Given the description of an element on the screen output the (x, y) to click on. 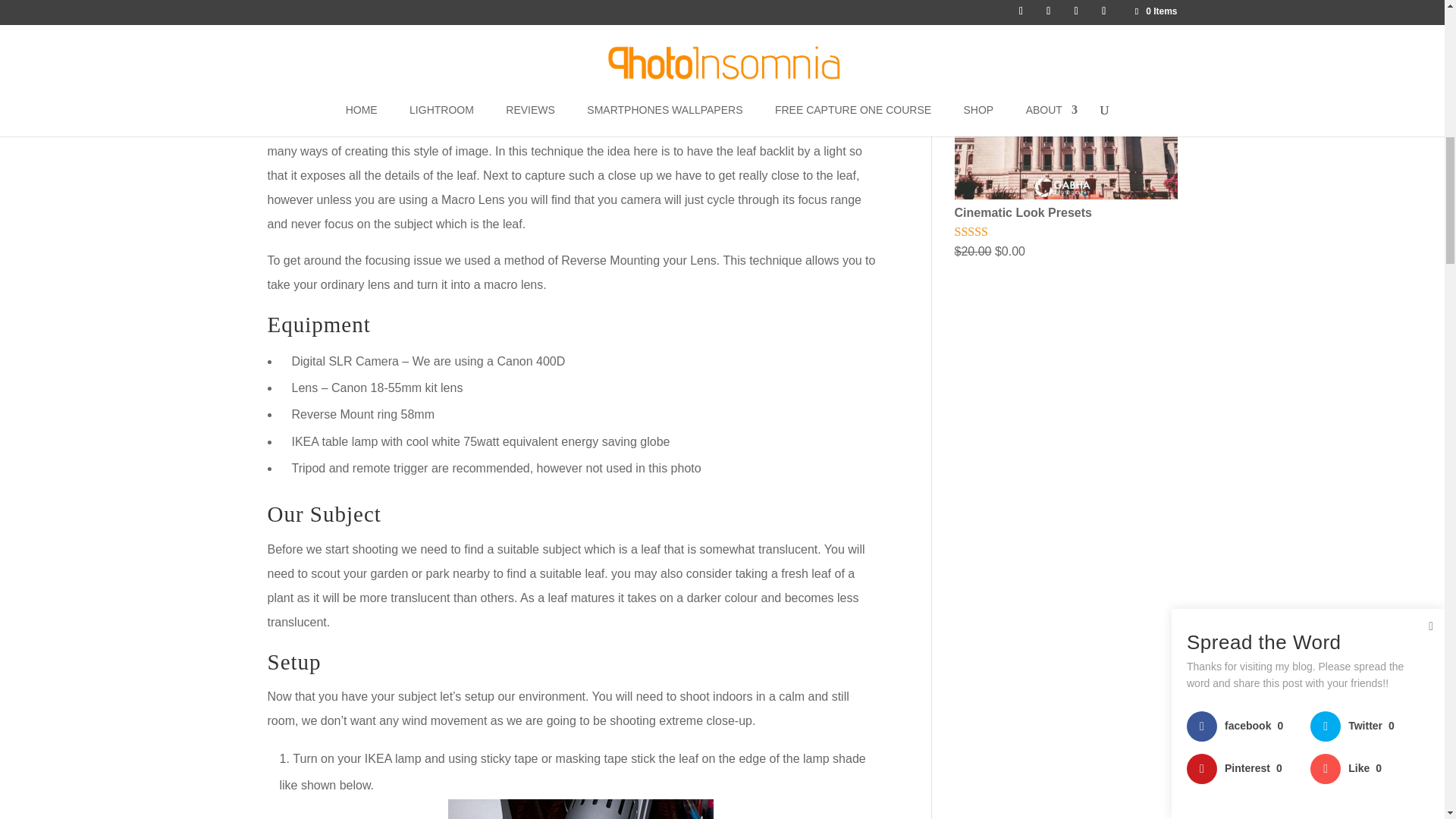
Setup Image1 (579, 809)
